Given the description of an element on the screen output the (x, y) to click on. 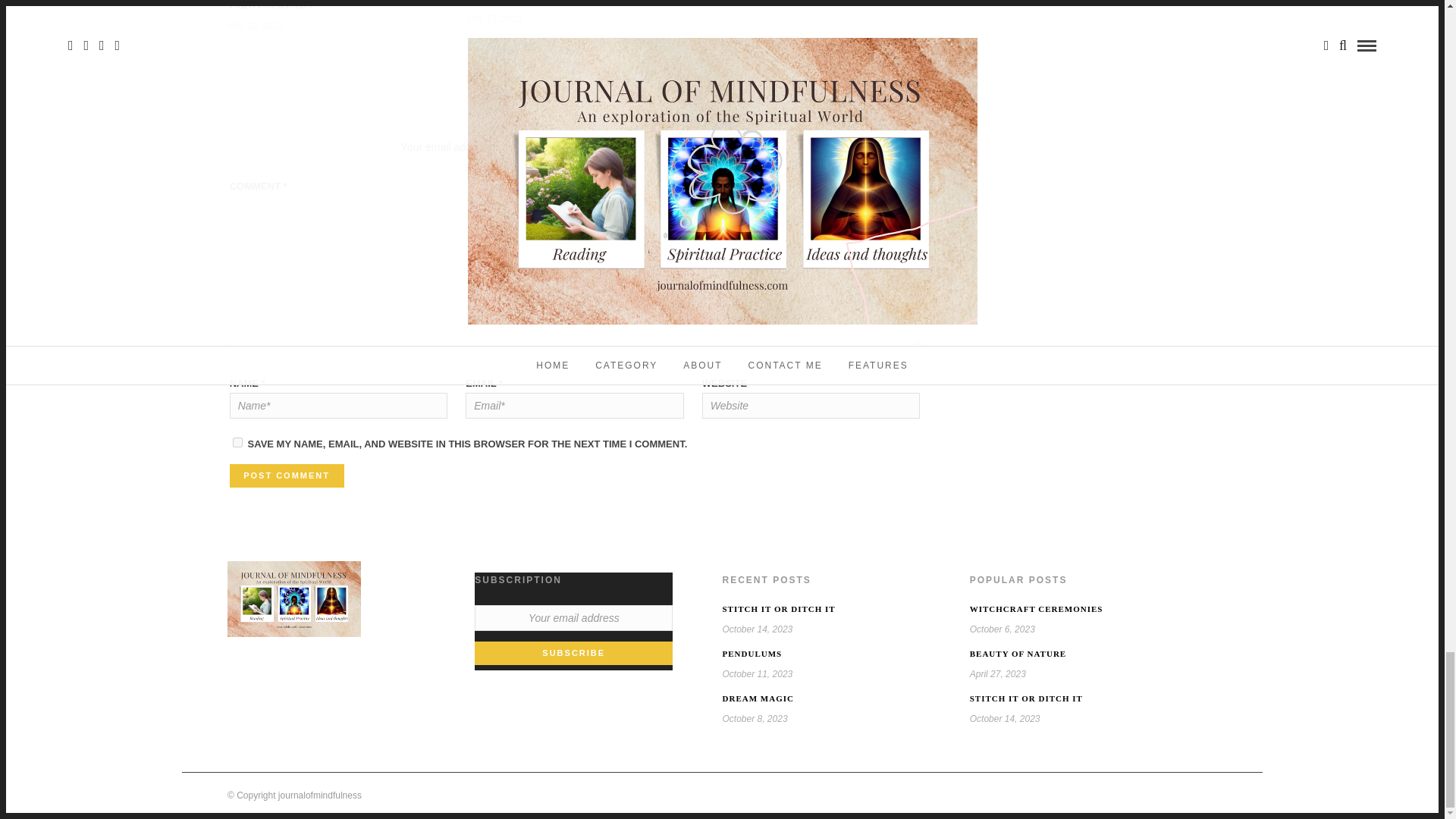
TAROT SPREADS (270, 5)
SUBSCRIBE (573, 653)
Tarot Spreads (270, 5)
yes (237, 442)
Post Comment (286, 476)
The Cup Suit (501, 2)
